Given the description of an element on the screen output the (x, y) to click on. 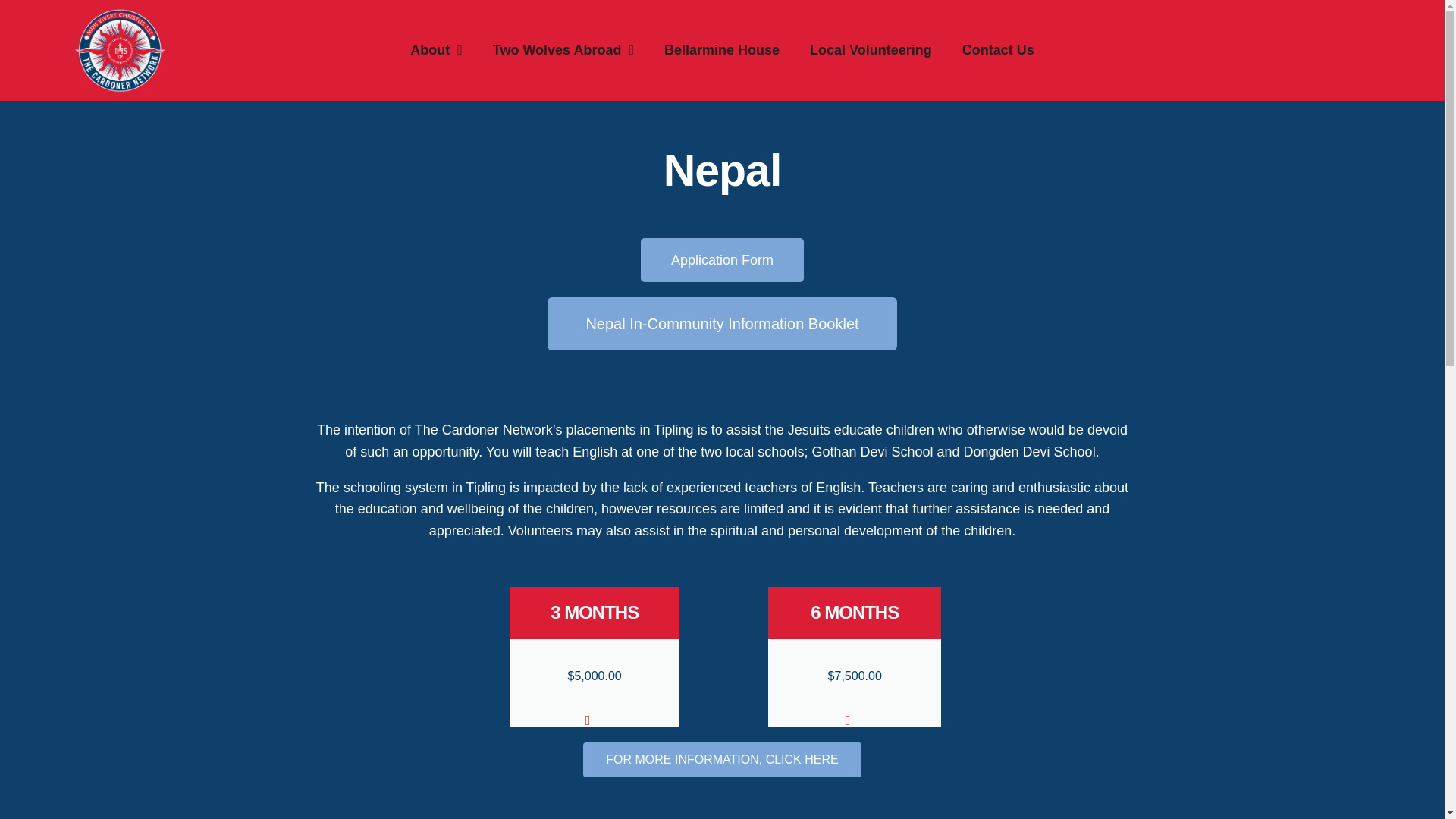
Application Form (721, 259)
Local Volunteering (870, 49)
Nepal In-Community Information Booklet (721, 323)
FOR MORE INFORMATION, CLICK HERE (721, 759)
About (435, 49)
Bellarmine House (721, 49)
Contact Us (998, 49)
Two Wolves Abroad (563, 49)
